Given the description of an element on the screen output the (x, y) to click on. 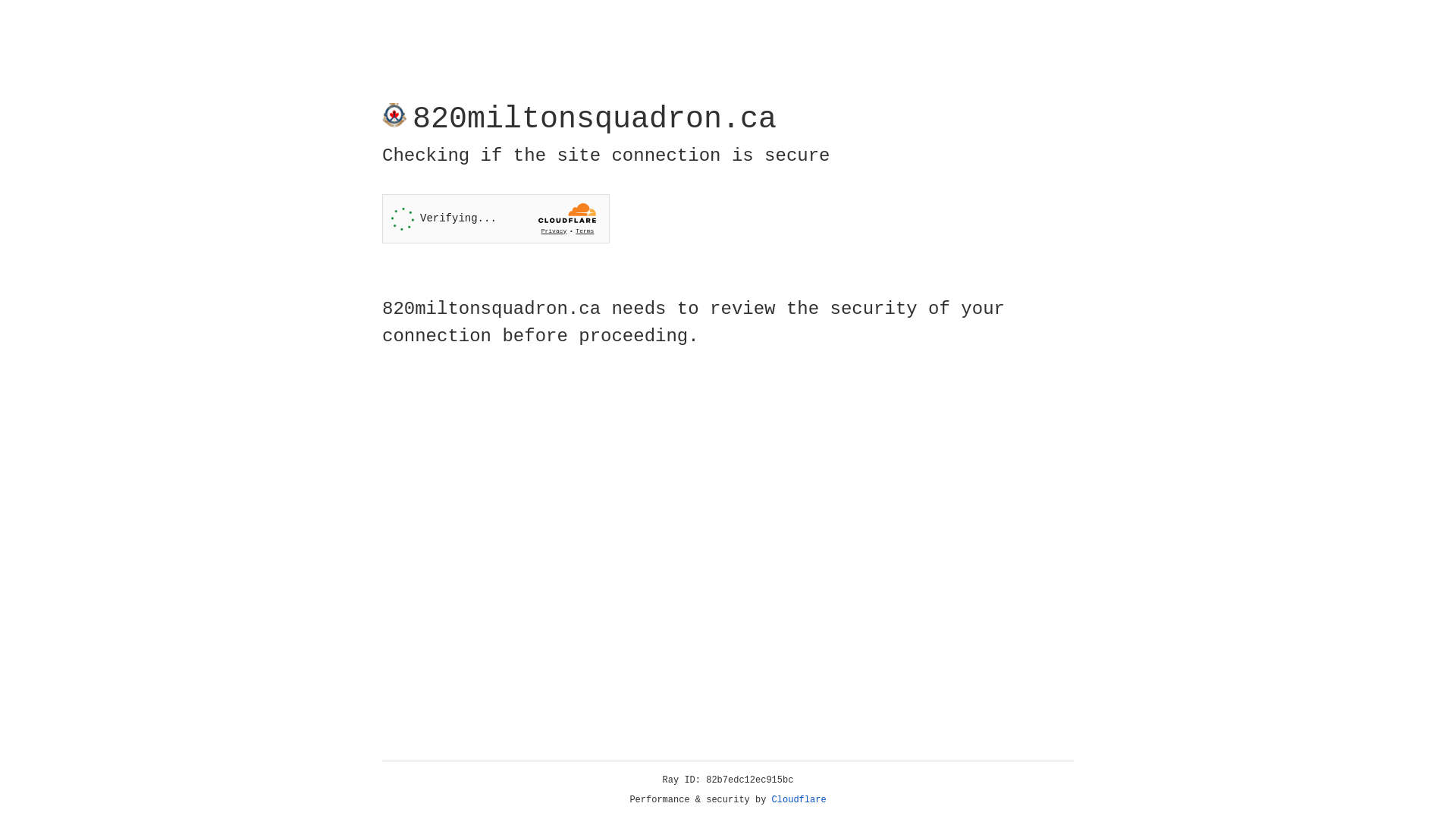
Widget containing a Cloudflare security challenge Element type: hover (495, 218)
Cloudflare Element type: text (798, 799)
